Given the description of an element on the screen output the (x, y) to click on. 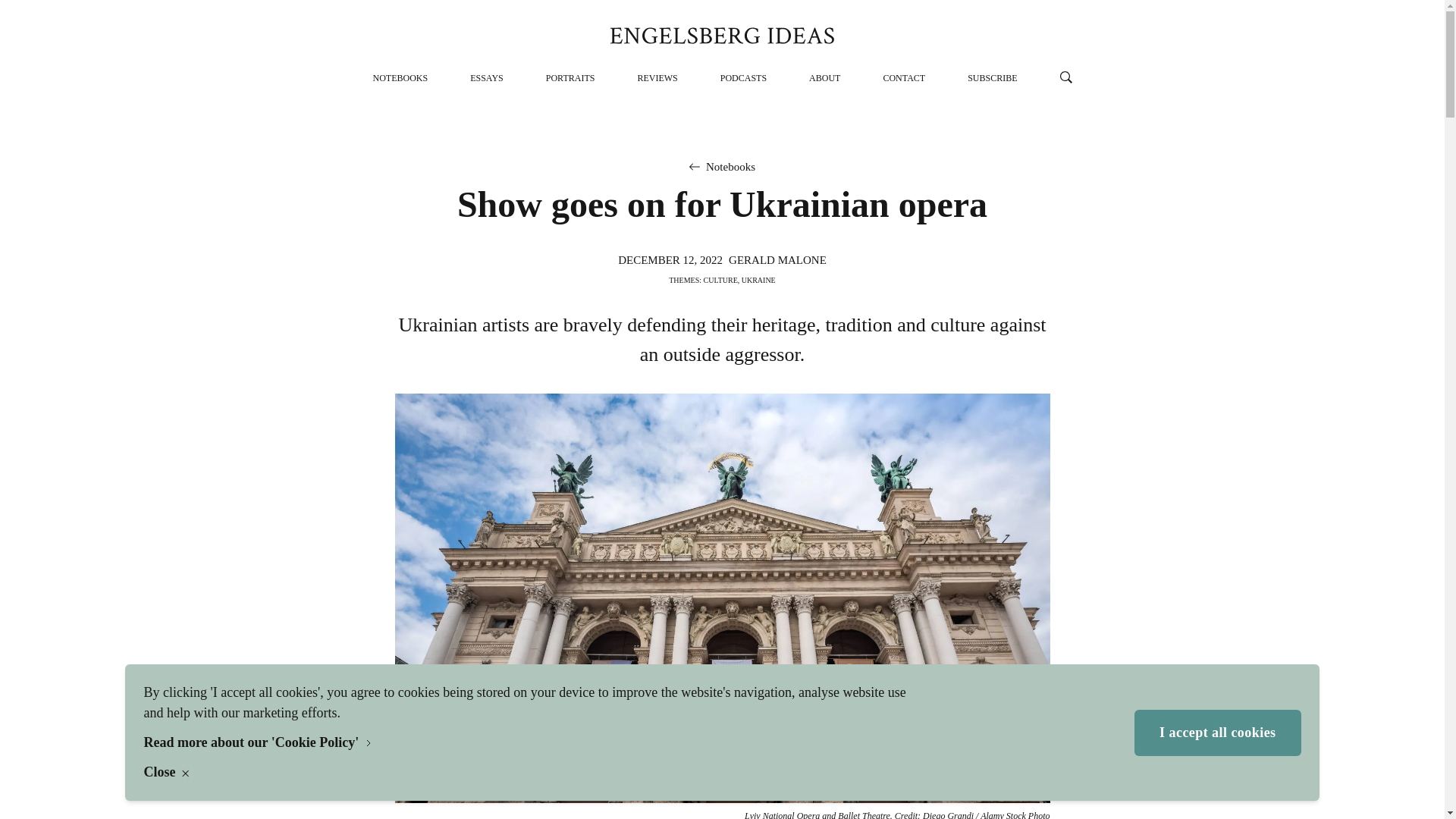
ESSAYS (486, 78)
PORTRAITS (570, 78)
ABOUT (824, 78)
GERALD MALONE (778, 259)
CONTACT (903, 78)
PODCASTS (743, 78)
SUBSCRIBE (992, 78)
REVIEWS (657, 78)
Engelsbergs Ideas (722, 35)
Notebooks (730, 166)
NOTEBOOKS (400, 78)
